Given the description of an element on the screen output the (x, y) to click on. 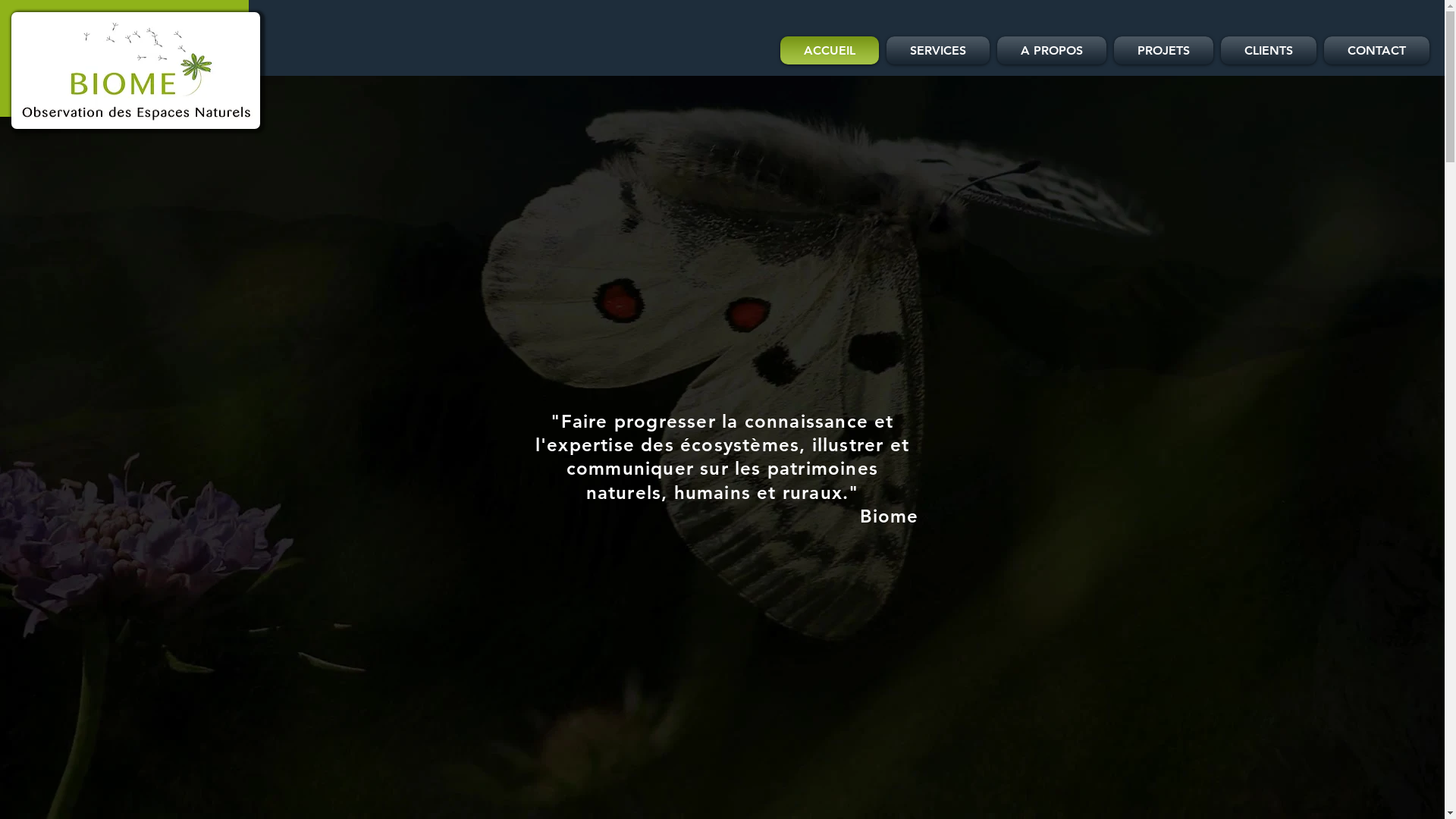
ACCUEIL Element type: text (831, 50)
PROJETS Element type: text (1163, 50)
CLIENTS Element type: text (1268, 50)
CONTACT Element type: text (1374, 50)
A PROPOS Element type: text (1051, 50)
SERVICES Element type: text (937, 50)
